Given the description of an element on the screen output the (x, y) to click on. 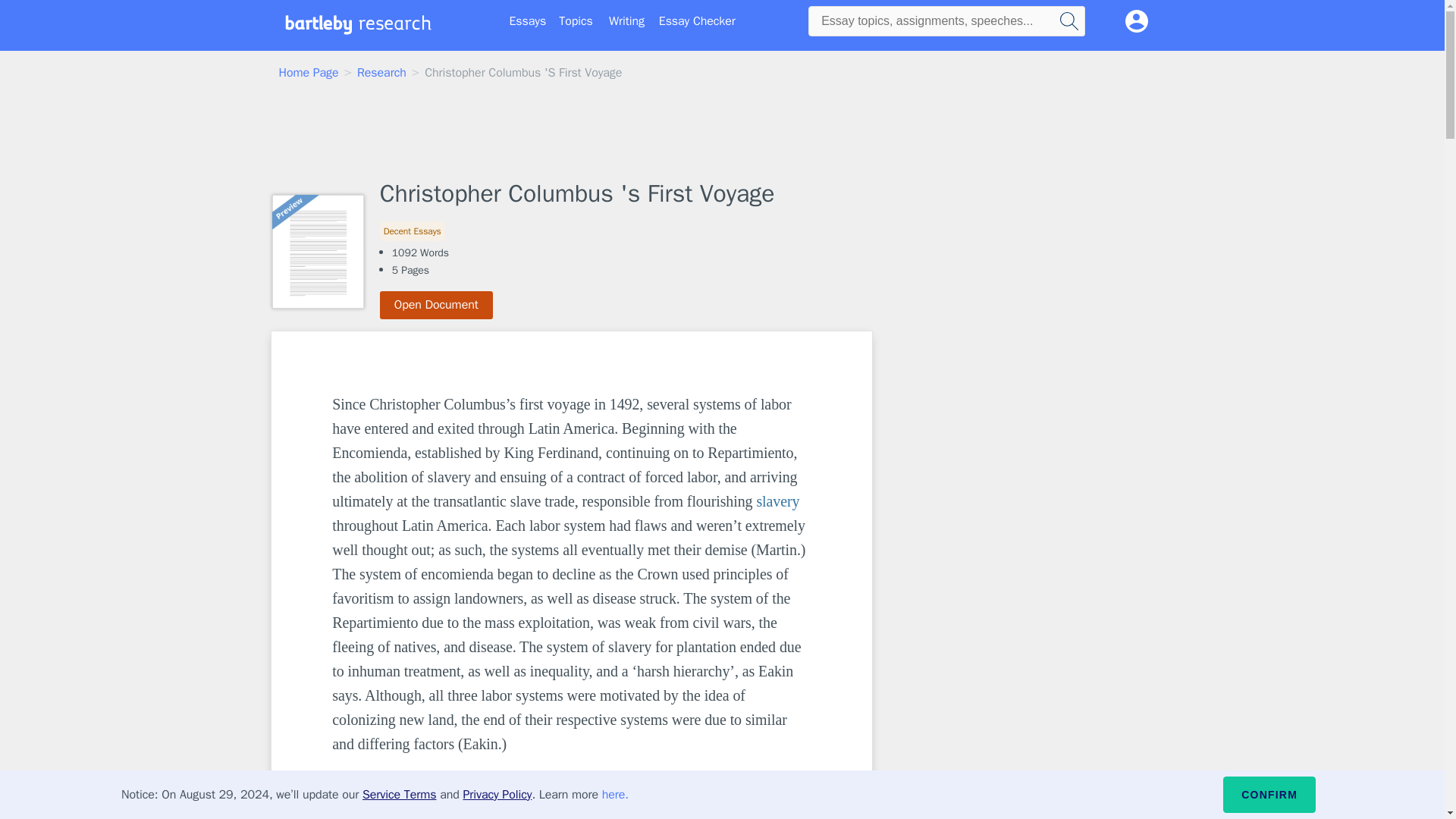
Home Page (309, 72)
Writing (626, 20)
Essays (528, 20)
Open Document (436, 305)
Research (381, 72)
slavery (777, 501)
Essay Checker (697, 20)
Topics (575, 20)
